Given the description of an element on the screen output the (x, y) to click on. 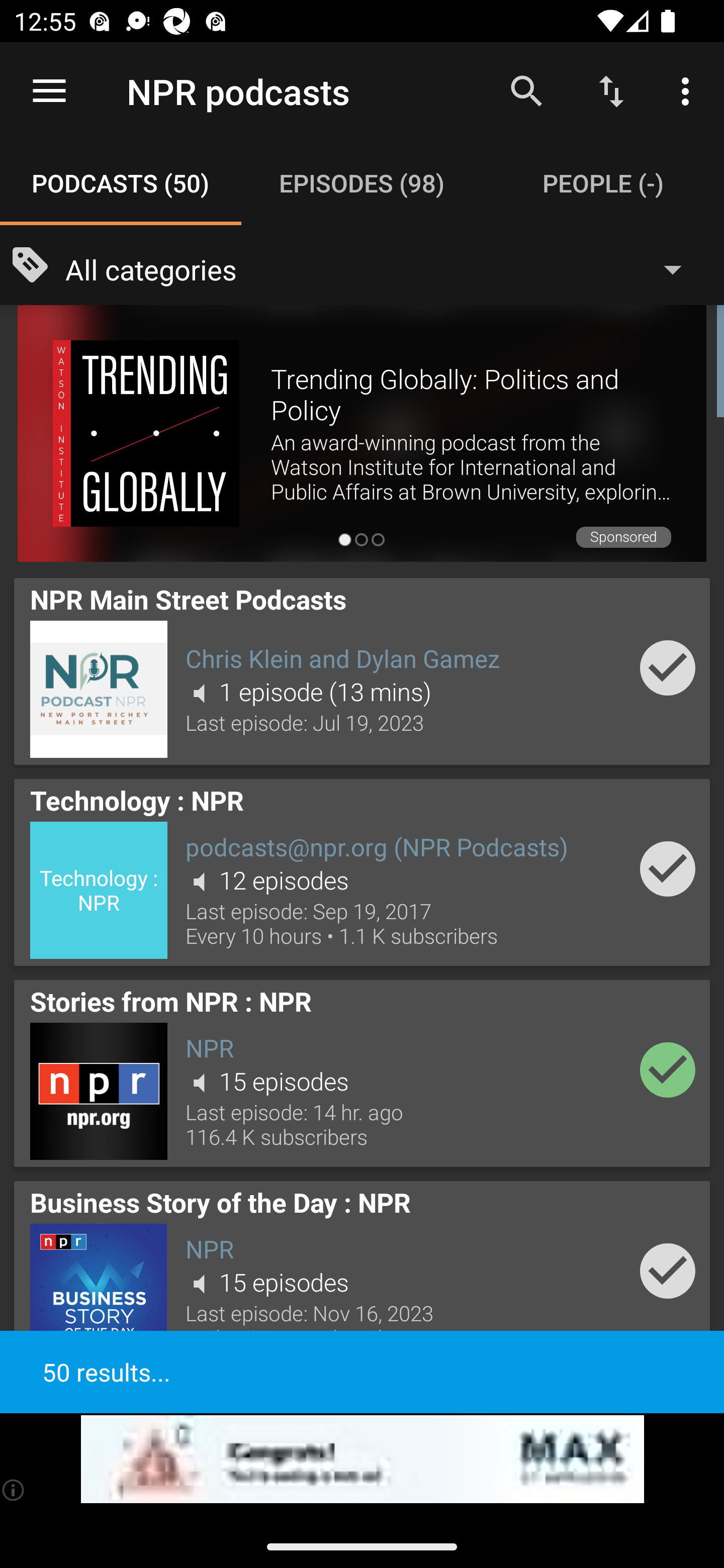
Open navigation sidebar (49, 91)
Search (526, 90)
Sort (611, 90)
More options (688, 90)
Episodes (98) EPISODES (98) (361, 183)
People (-) PEOPLE (-) (603, 183)
All categories (383, 268)
Add (667, 667)
Add (667, 868)
Add (667, 1069)
Add (667, 1271)
app-monetization (362, 1459)
(i) (14, 1489)
